Given the description of an element on the screen output the (x, y) to click on. 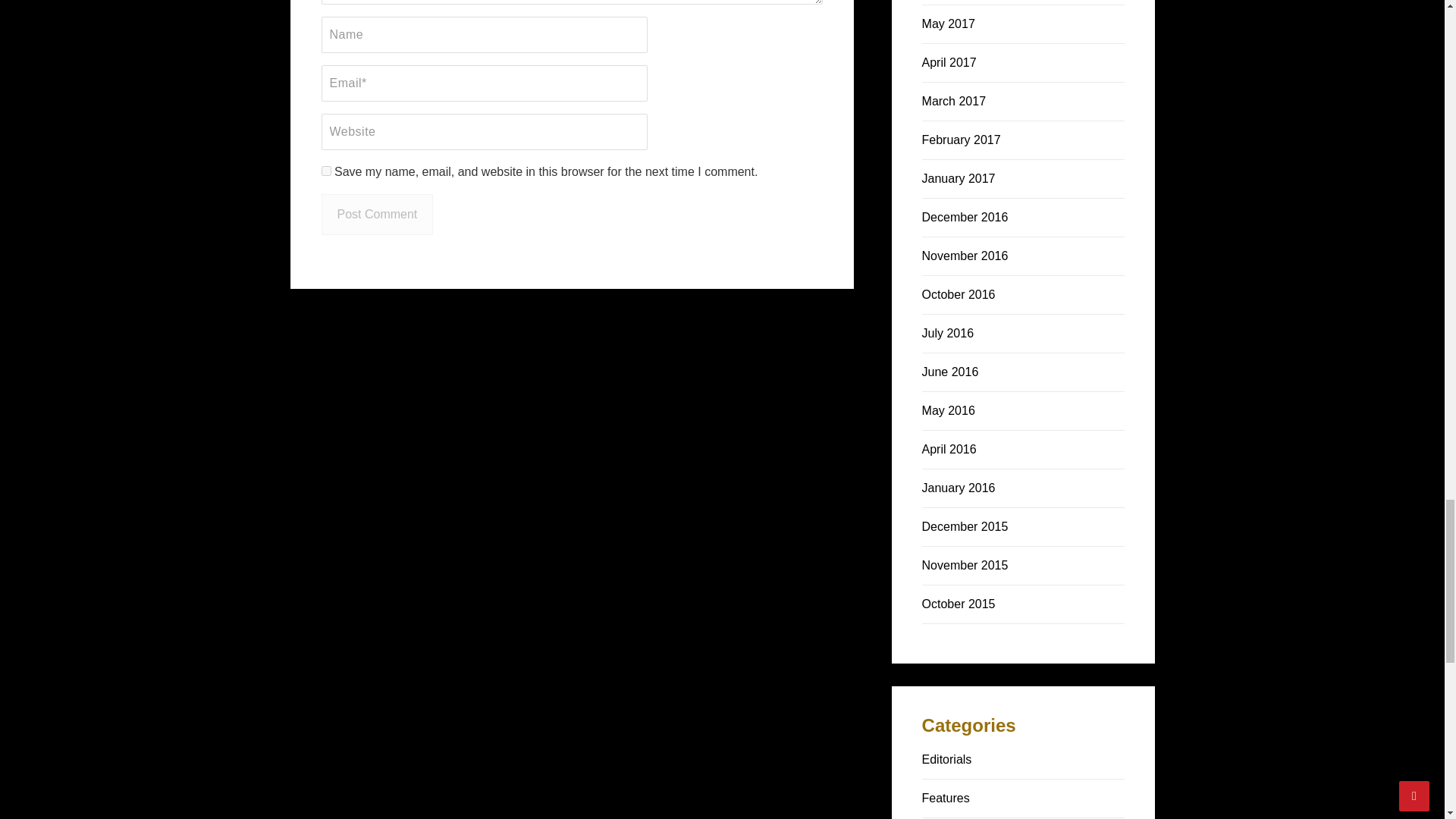
Post Comment (377, 214)
yes (326, 171)
Post Comment (377, 214)
